Given the description of an element on the screen output the (x, y) to click on. 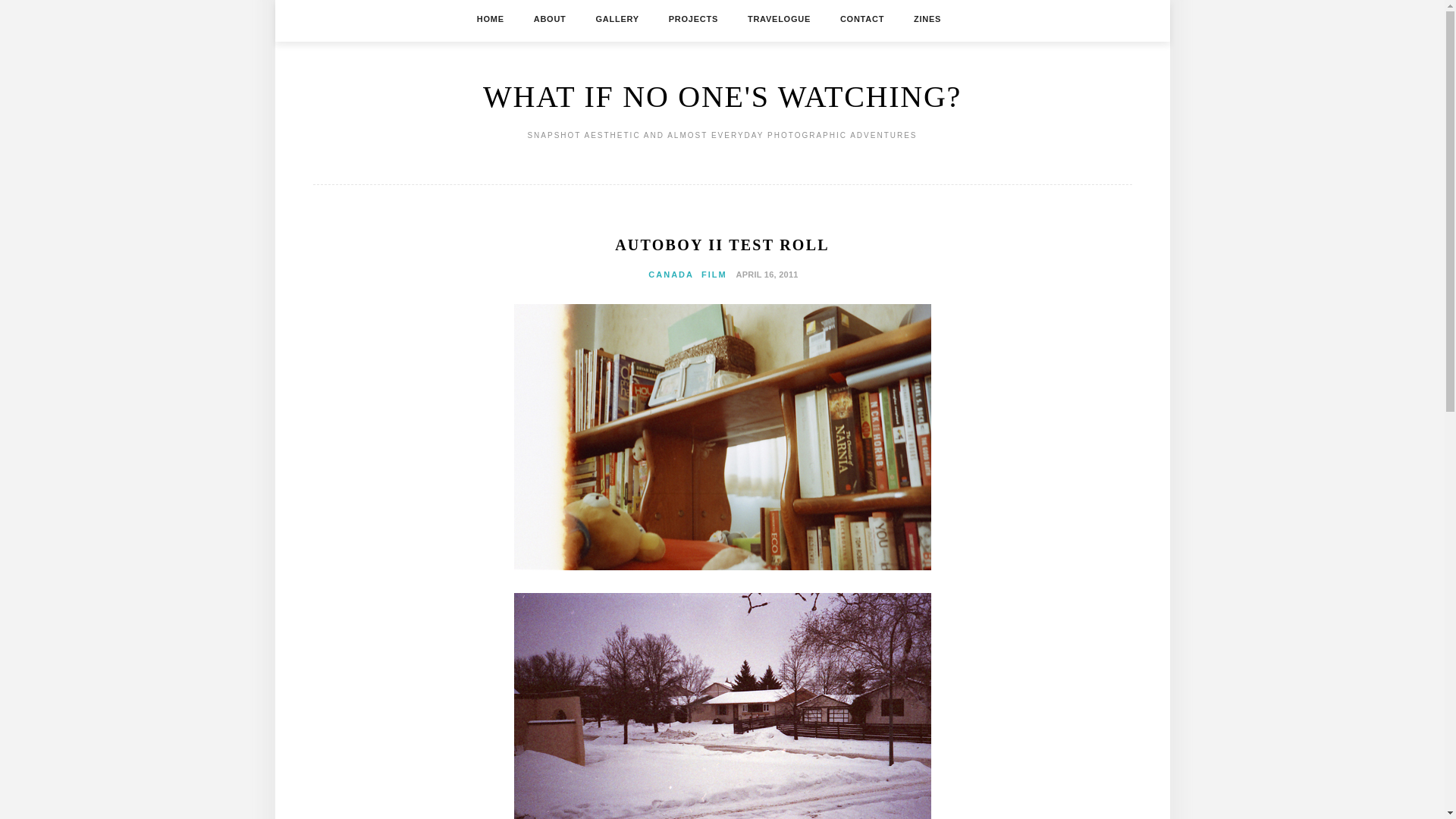
GALLERY (617, 18)
CANADA (670, 274)
APRIL 16, 2011 (764, 273)
TRAVELOGUE (779, 18)
WHAT IF NO ONE'S WATCHING? (721, 96)
PROJECTS (692, 18)
FILM (713, 274)
CONTACT (861, 18)
Search (24, 9)
